Given the description of an element on the screen output the (x, y) to click on. 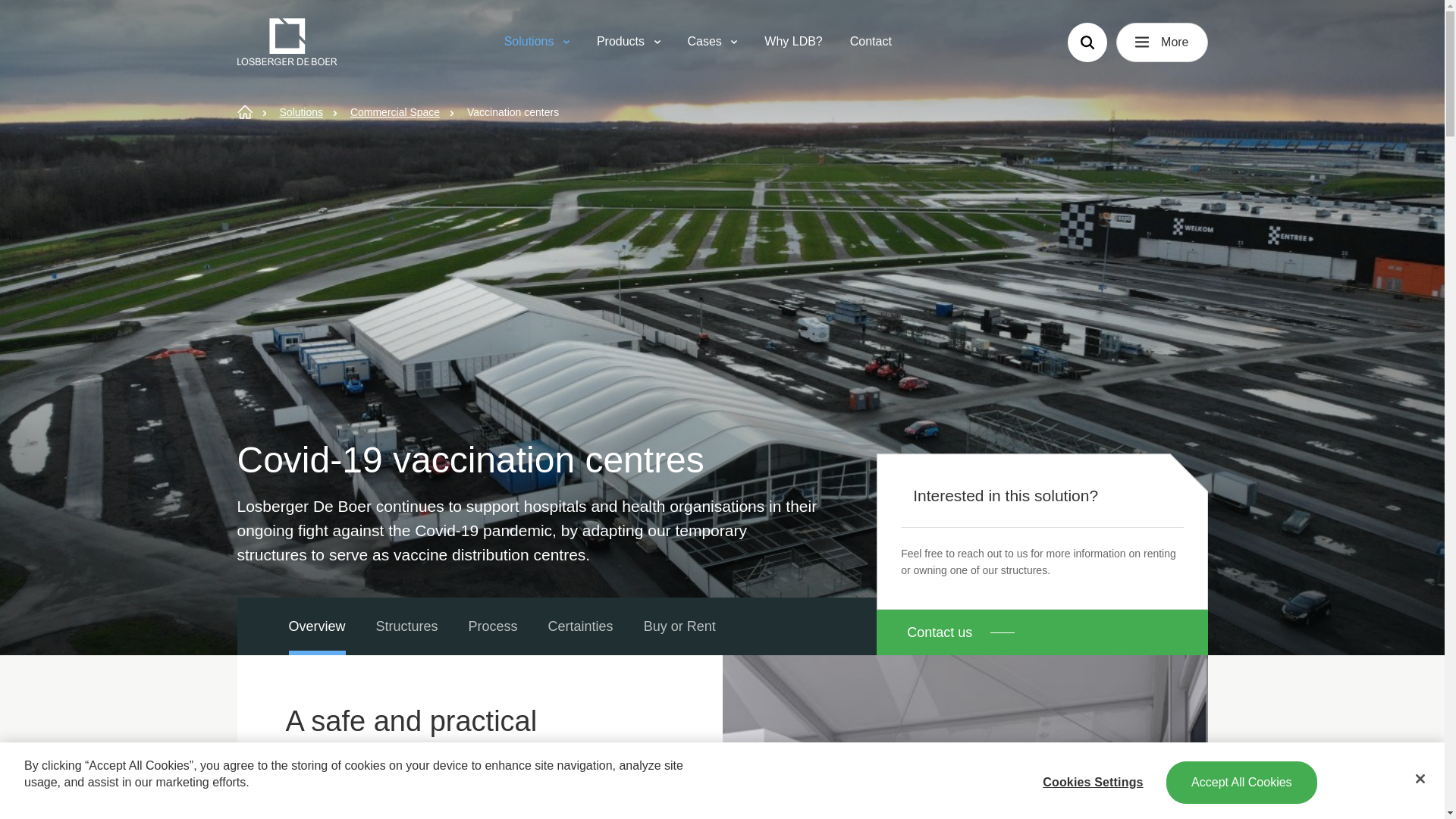
Contact (870, 41)
More (1161, 42)
Solutions (536, 41)
Products (628, 41)
Solutions (301, 111)
Why LDB? (793, 41)
Solutions (536, 41)
Cases (711, 41)
Contact (870, 41)
Why LDB? (793, 41)
Products (628, 41)
Cases (711, 41)
Search (1086, 42)
